Given the description of an element on the screen output the (x, y) to click on. 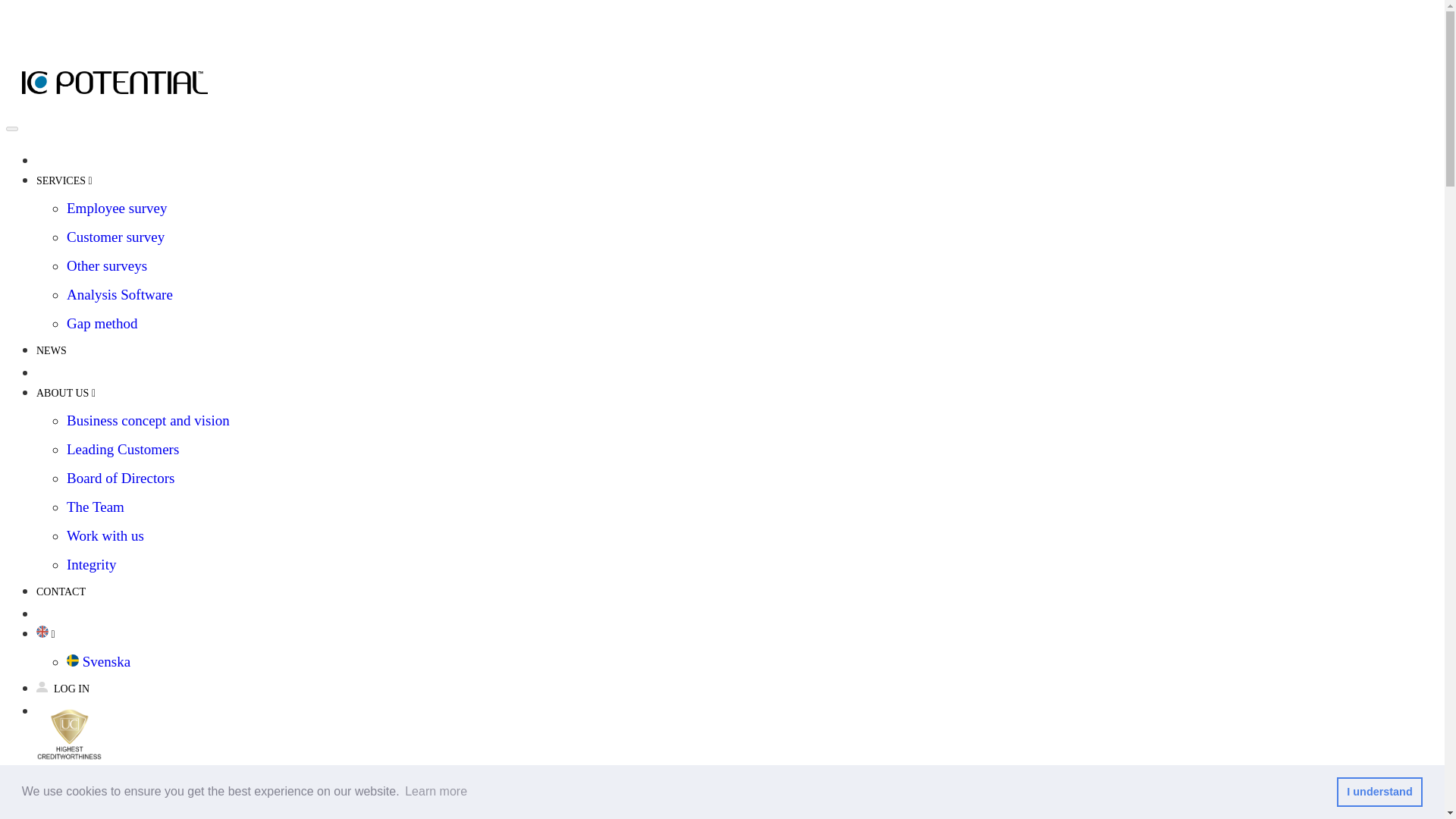
ABOUT US (66, 385)
Integrity (91, 564)
READ MORE (1360, 792)
Leading Customers (122, 449)
CONTACT (60, 583)
NEWS (51, 343)
Analysis Software (119, 294)
Other surveys (106, 265)
Toggle navigation (11, 128)
Learn more (435, 791)
The Team (94, 506)
Customer survey (115, 236)
Board of Directors (120, 478)
LOG IN (62, 681)
Svenska (98, 661)
